Given the description of an element on the screen output the (x, y) to click on. 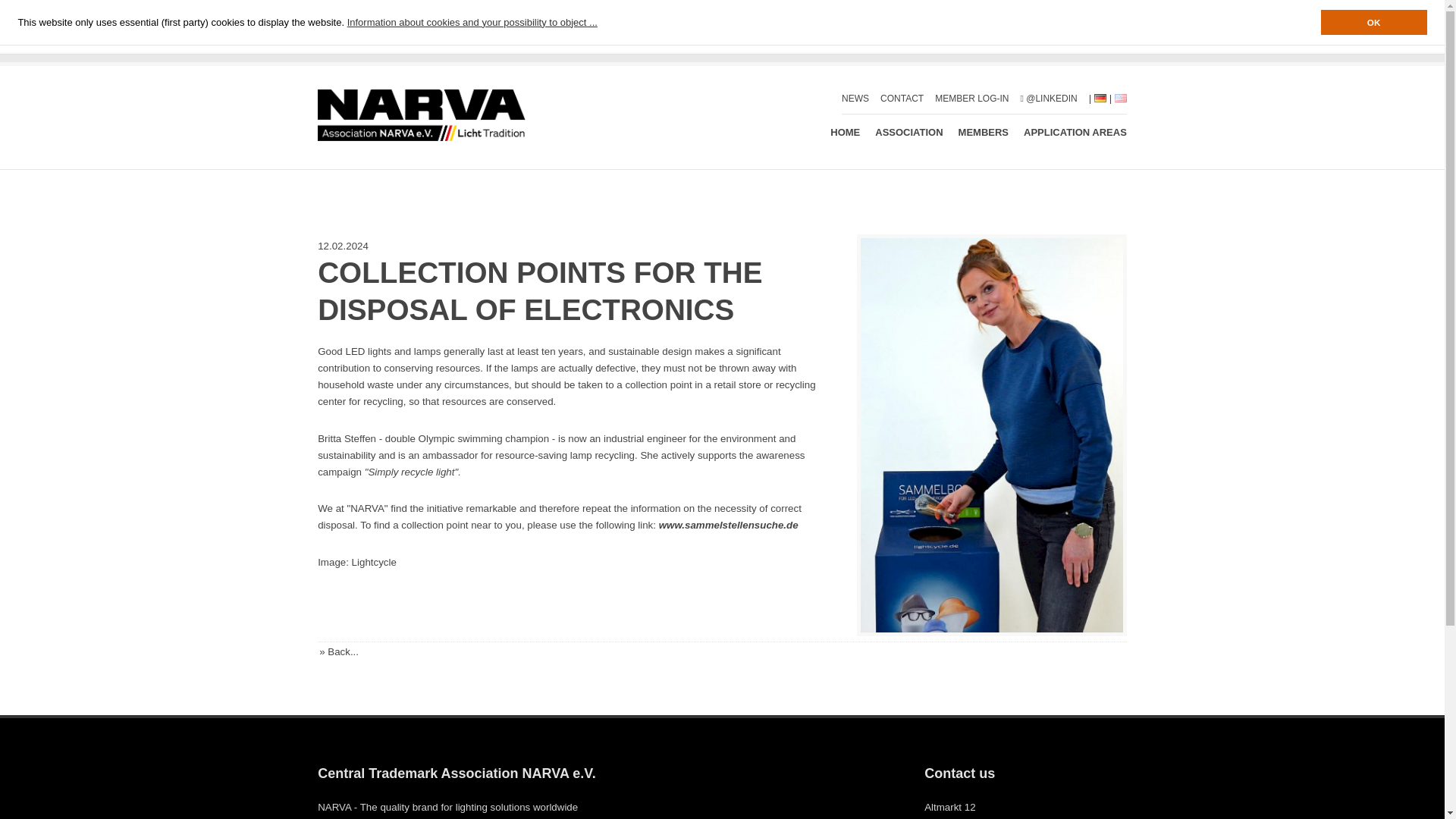
CONTACT (901, 98)
HOME (844, 132)
Information about cookies and your possibility to object ... (471, 22)
NEWS (855, 98)
MEMBER LOG-IN (971, 98)
OK (1373, 22)
